Given the description of an element on the screen output the (x, y) to click on. 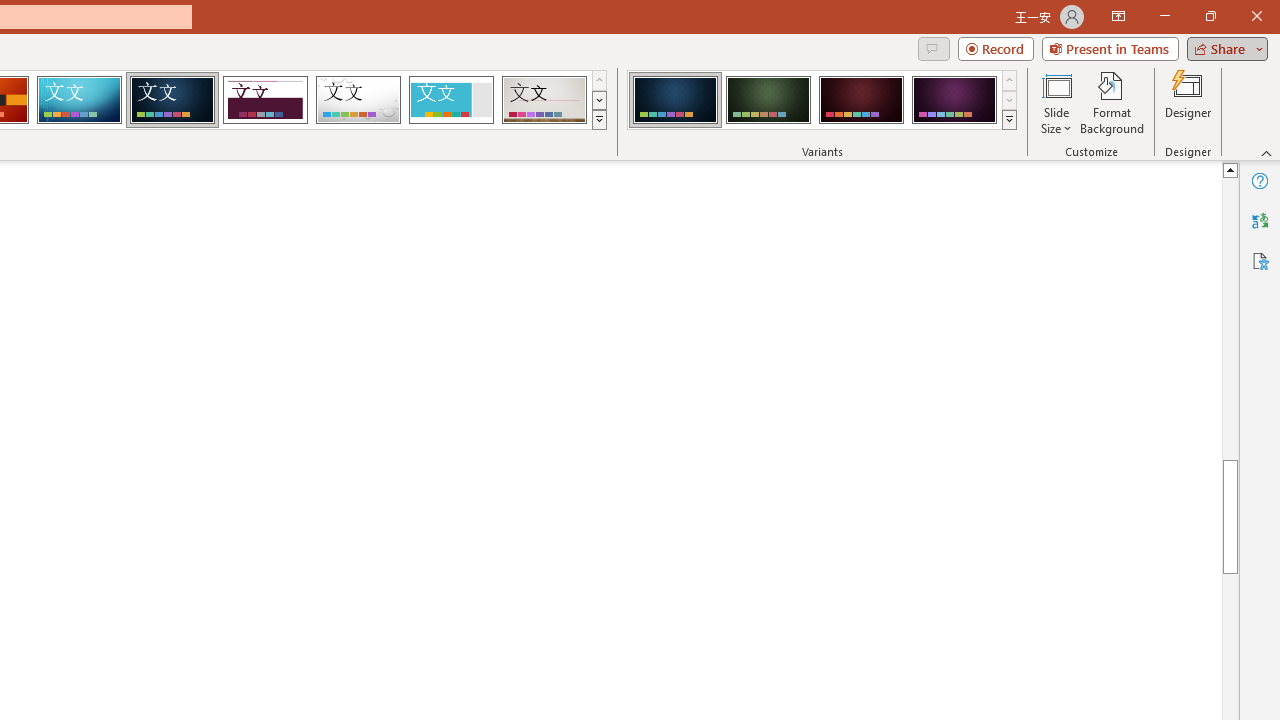
Page up (1232, 274)
Droplet (358, 100)
Damask Variant 4 (953, 100)
Format Background (1111, 102)
Damask Variant 3 (861, 100)
Circuit (79, 100)
Themes (598, 120)
